Given the description of an element on the screen output the (x, y) to click on. 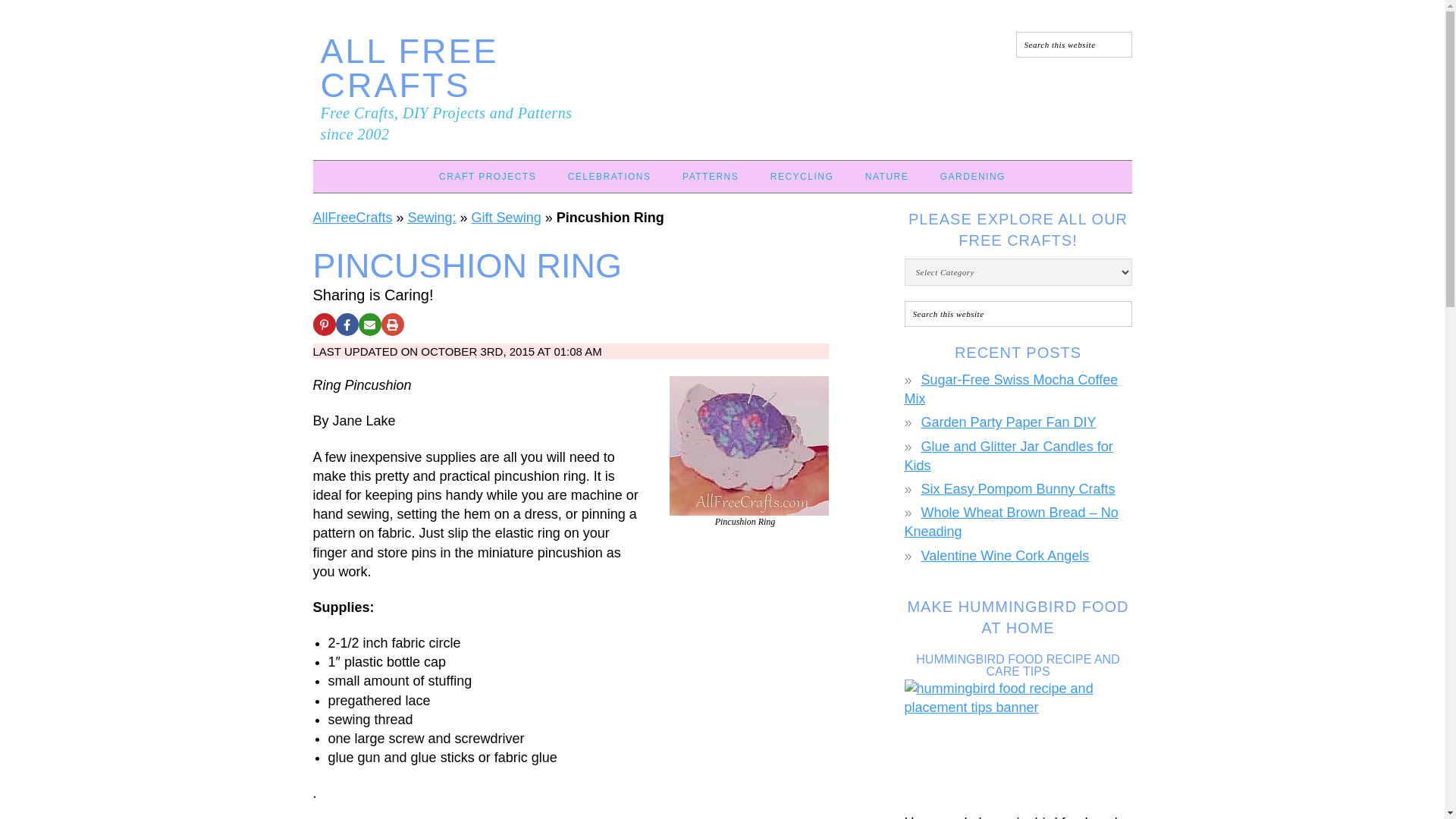
CELEBRATIONS (609, 176)
RECYCLING (801, 176)
Hummingbird Food Recipe and Care Tips (1017, 737)
PATTERNS (710, 176)
NATURE (886, 176)
GARDENING (972, 176)
ALL FREE CRAFTS (408, 67)
